Given the description of an element on the screen output the (x, y) to click on. 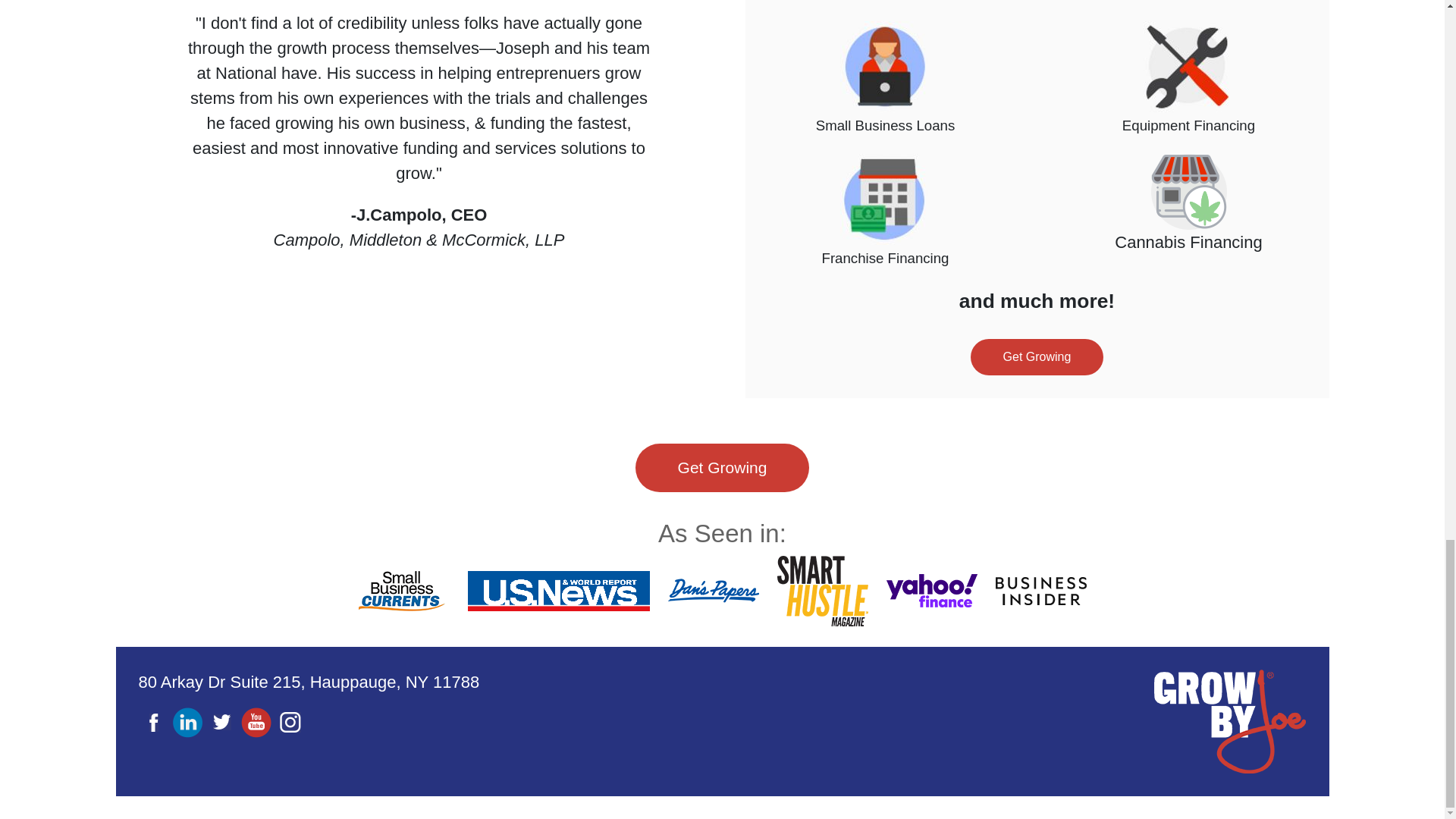
Smart-Hustle-Magazine (821, 591)
Get Growing (721, 467)
Grow-By-Joe-Landing-Page-Small Business Loans (885, 66)
Grow-By-Joe-Landing-Page-Equipment Financing (1188, 66)
Small-Business-Currents (402, 590)
Grow-By-Joe-Landing-Page-Franchise Financing (885, 198)
DansPapers (712, 590)
Get Growing (1037, 357)
US-News-World-Report (557, 590)
cannabis-financing (1189, 191)
